Given the description of an element on the screen output the (x, y) to click on. 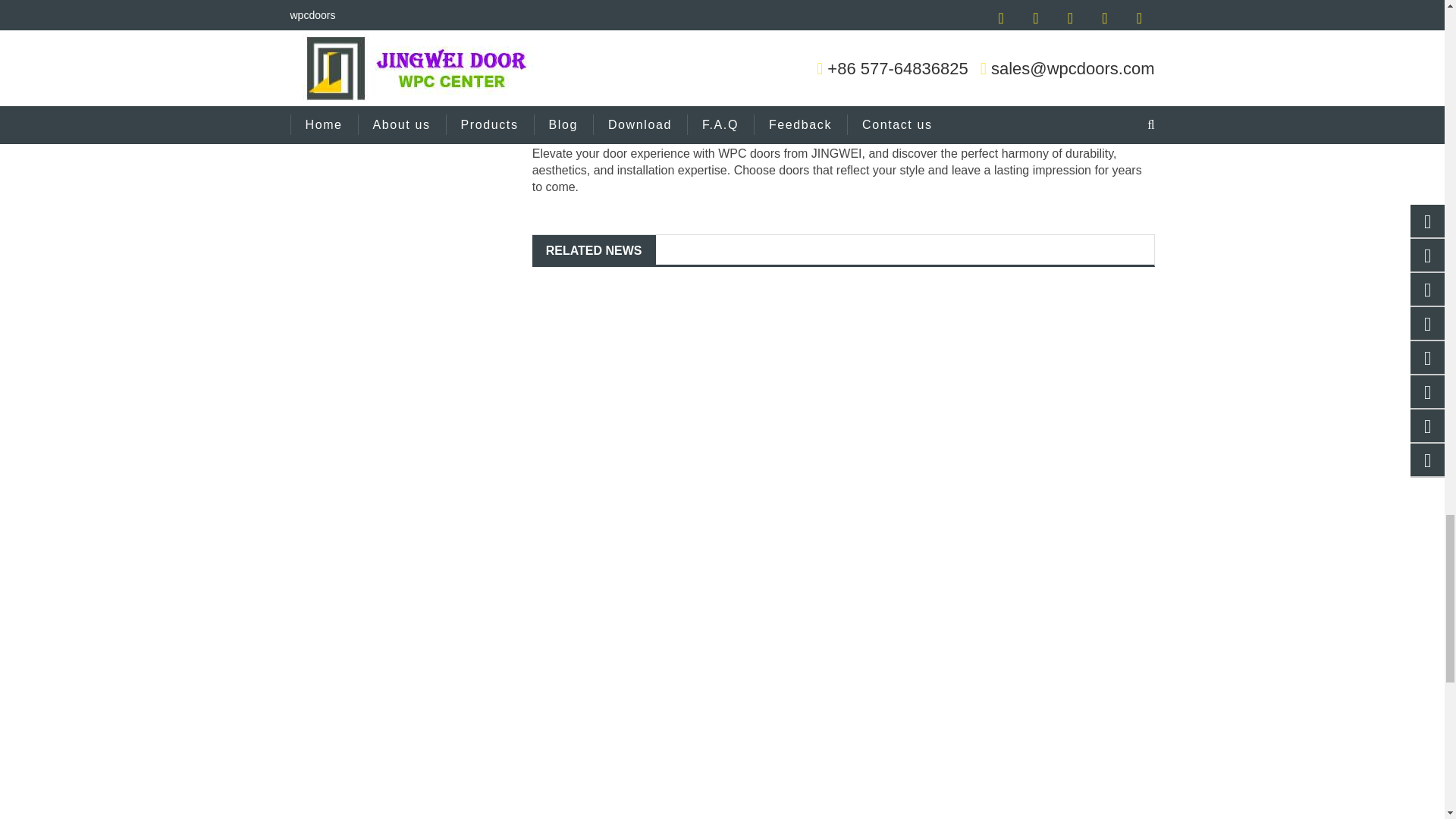
JINGWEI (991, 19)
JINGWEI (835, 153)
